Given the description of an element on the screen output the (x, y) to click on. 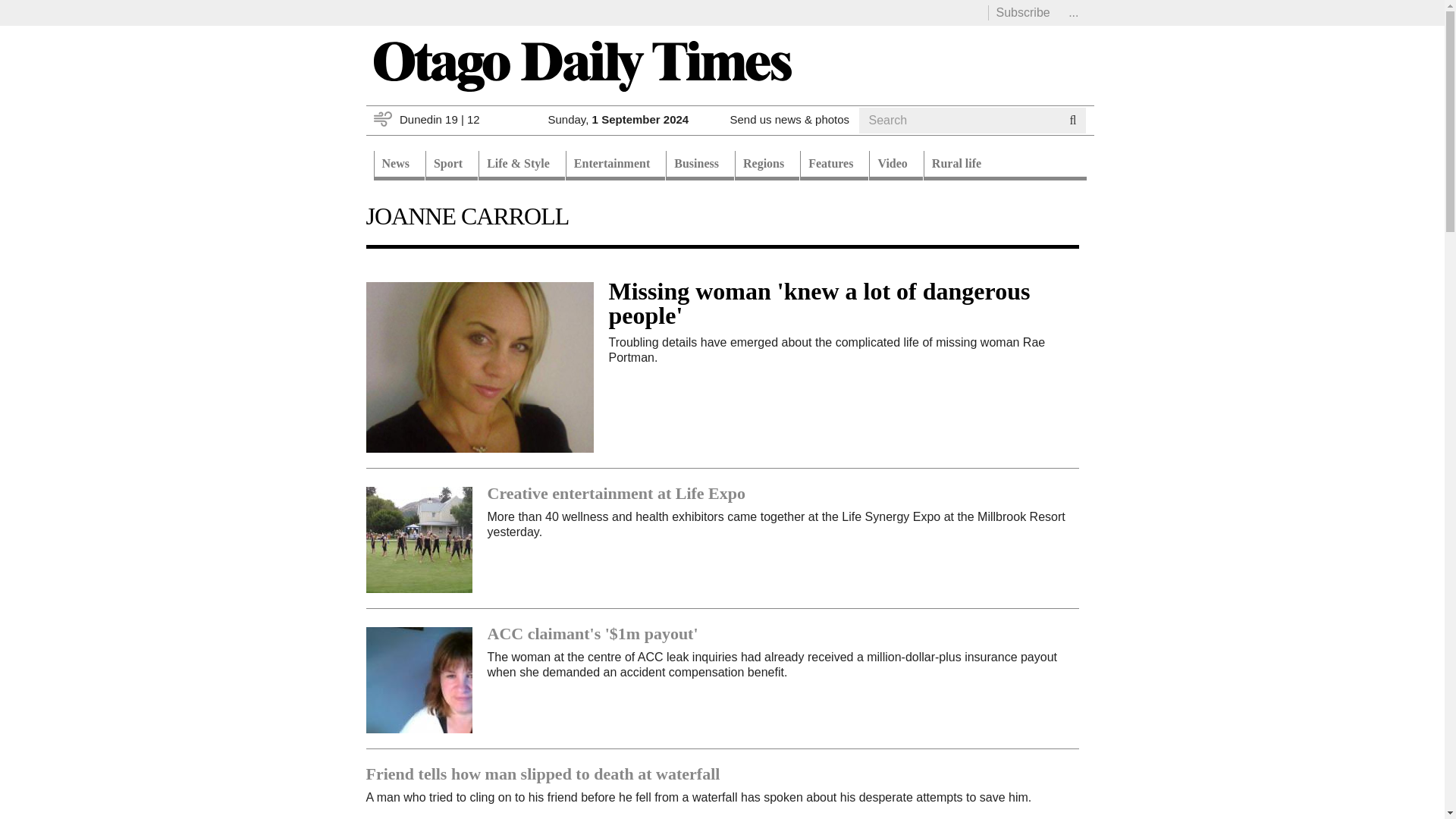
Sport (451, 165)
Home (581, 65)
Enter the terms you wish to search for. (959, 120)
News (397, 165)
Wind (381, 118)
Subscribe (1022, 11)
Search (888, 138)
